Given the description of an element on the screen output the (x, y) to click on. 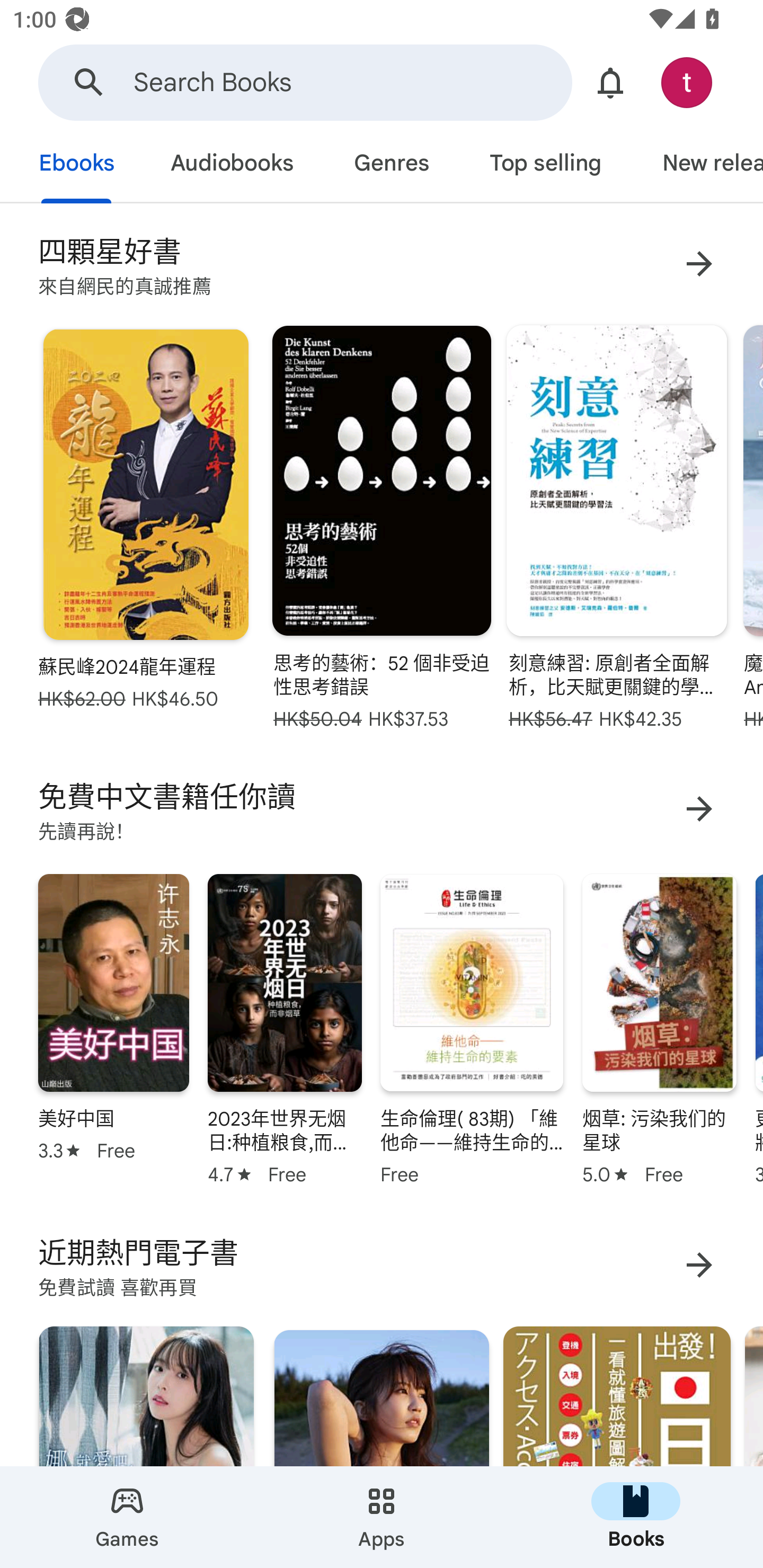
Search Google Play Search Books (305, 81)
Search Google Play (89, 81)
Show notifications and offers. (610, 81)
Audiobooks (231, 165)
Genres (390, 165)
Top selling (544, 165)
四顆星好書 來自網民的真誠推薦 More results for 四顆星好書 (381, 263)
More results for 四顆星好書 (699, 263)
免費中文書籍任你讀 先讀再說！ More results for 免費中文書籍任你讀 (381, 807)
More results for 免費中文書籍任你讀 (699, 808)
美好中国
Star rating: 3.3
Free
 (113, 1026)
2023年世界无烟日:种植粮食,而非烟草
Star rating: 4.7
Free
 (284, 1026)
生命倫理( 83期) 「維他命——維持生命的要素」
Free
 (471, 1026)
烟草: 污染我们的星球
Star rating: 5.0
Free
 (659, 1026)
近期熱門電子書 免費試讀 喜歡再買 More results for 近期熱門電子書 (381, 1264)
More results for 近期熱門電子書 (699, 1264)
Games (127, 1517)
Apps (381, 1517)
